Given the description of an element on the screen output the (x, y) to click on. 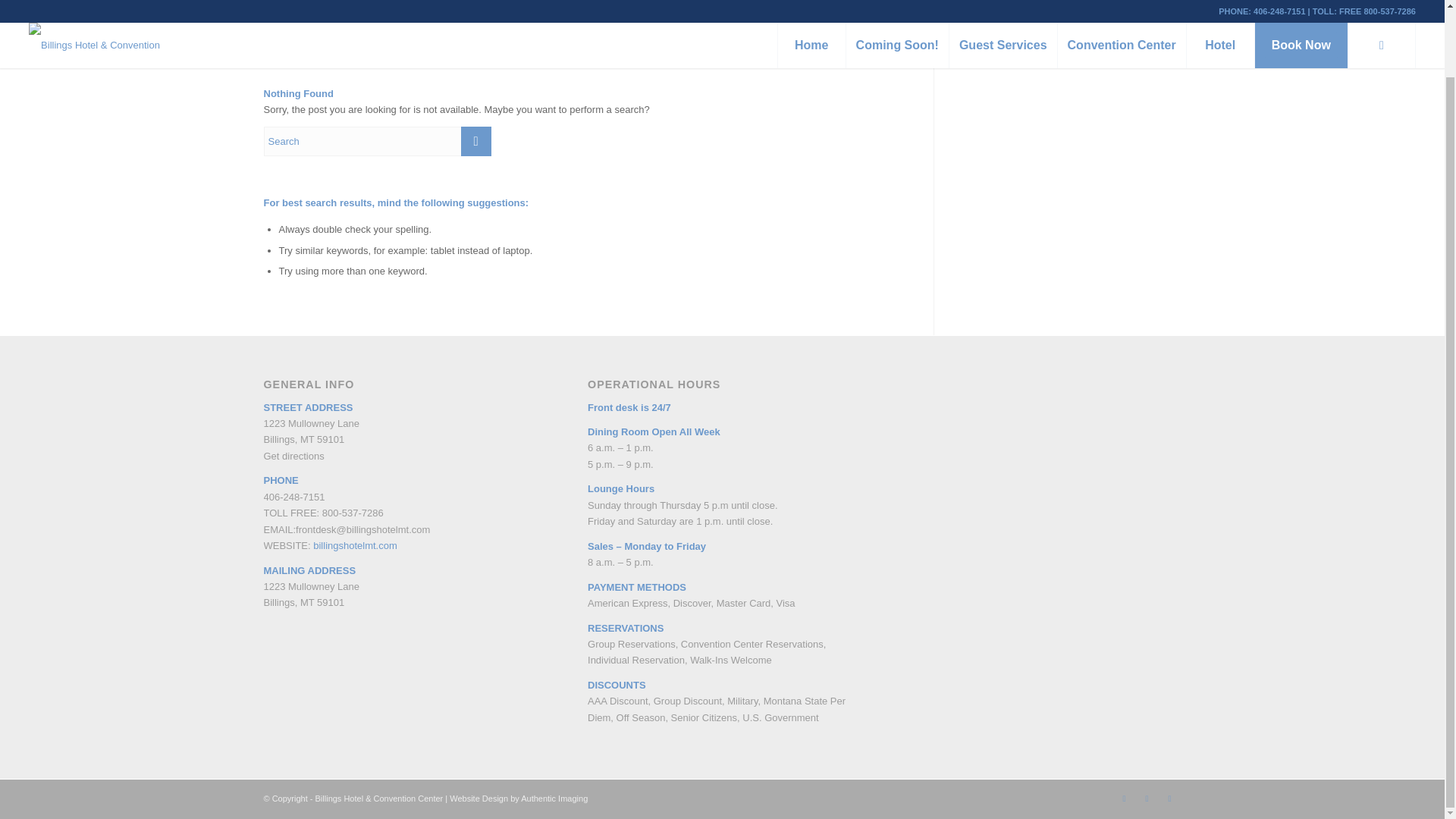
Facebook (1124, 798)
Pinterest (1146, 798)
Home (1101, 16)
billingshotelmt.com (355, 545)
Twitter (1169, 798)
